Given the description of an element on the screen output the (x, y) to click on. 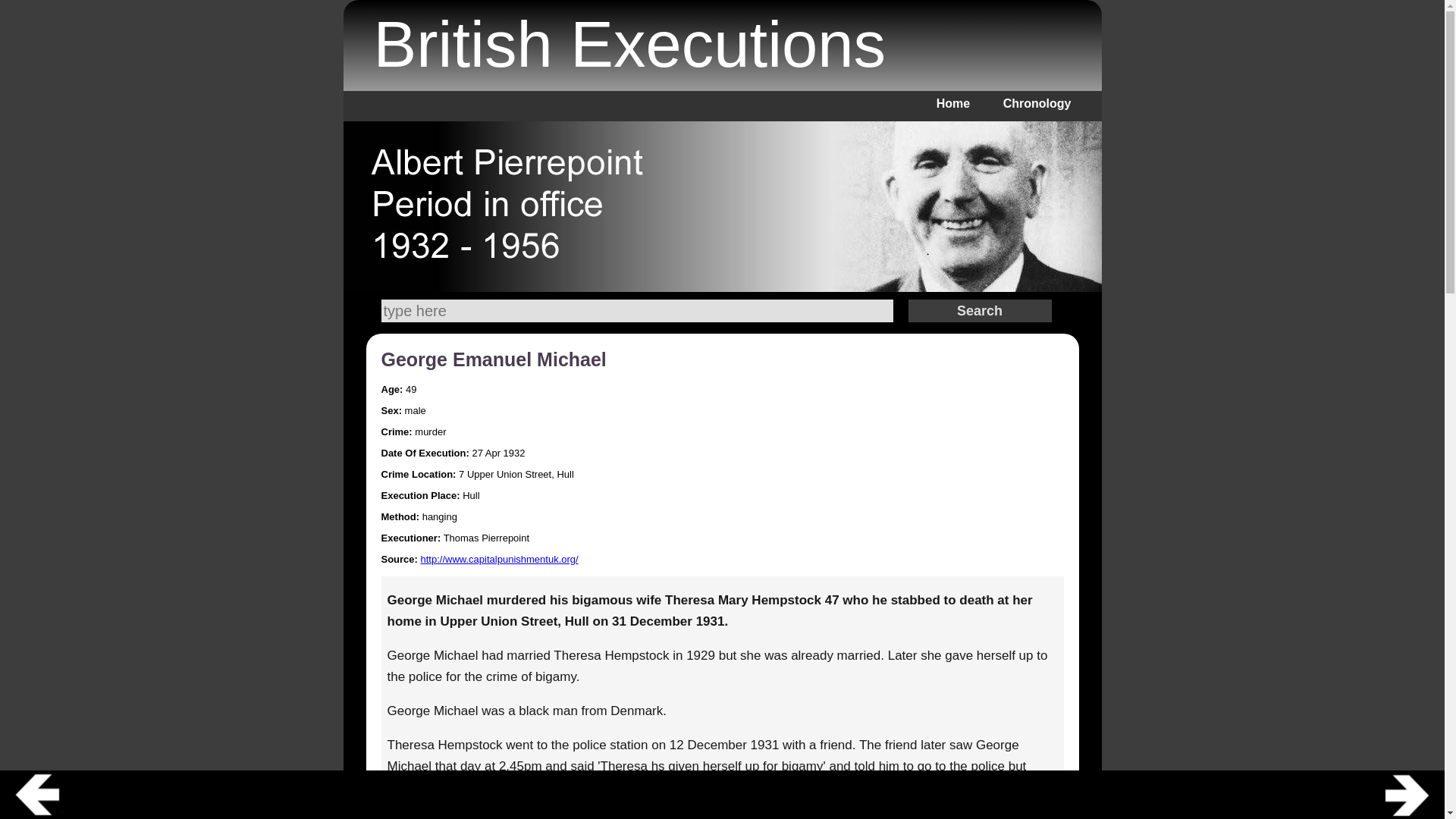
Chronology (1037, 103)
Search (979, 310)
Home (952, 103)
George Emanuel Michael (492, 359)
7 Upper Union Street, Hull (515, 473)
Search (979, 310)
Search (636, 310)
